Given the description of an element on the screen output the (x, y) to click on. 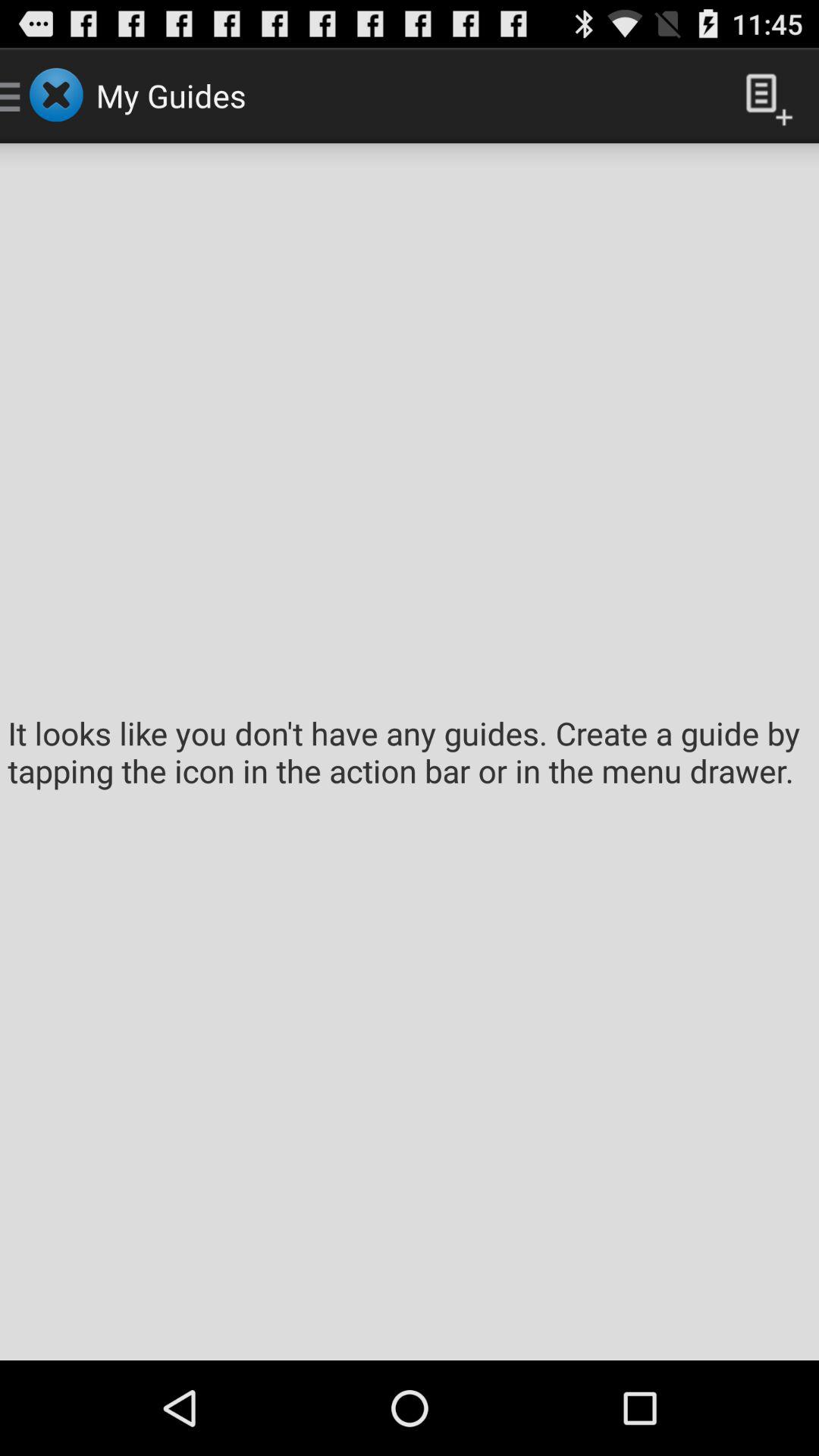
launch the app next to the my guides app (763, 95)
